Given the description of an element on the screen output the (x, y) to click on. 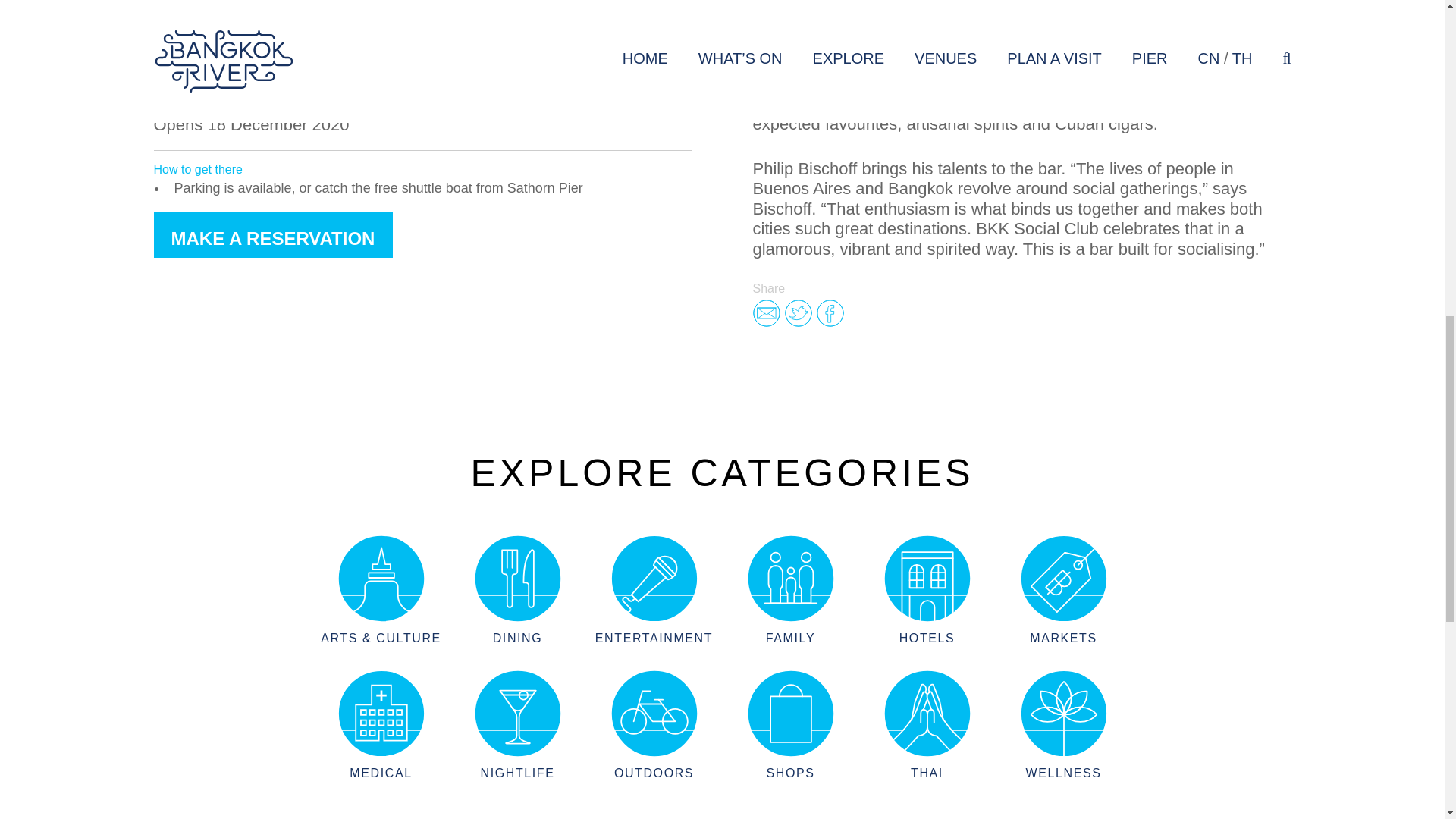
MAKE A RESERVATION (271, 234)
Facebook (829, 312)
DINING (517, 589)
MARKETS (1063, 589)
HOTELS (926, 589)
FAMILY (789, 589)
Visit website (287, 4)
Email (765, 312)
ENTERTAINMENT (653, 589)
Twitter (797, 312)
